Given the description of an element on the screen output the (x, y) to click on. 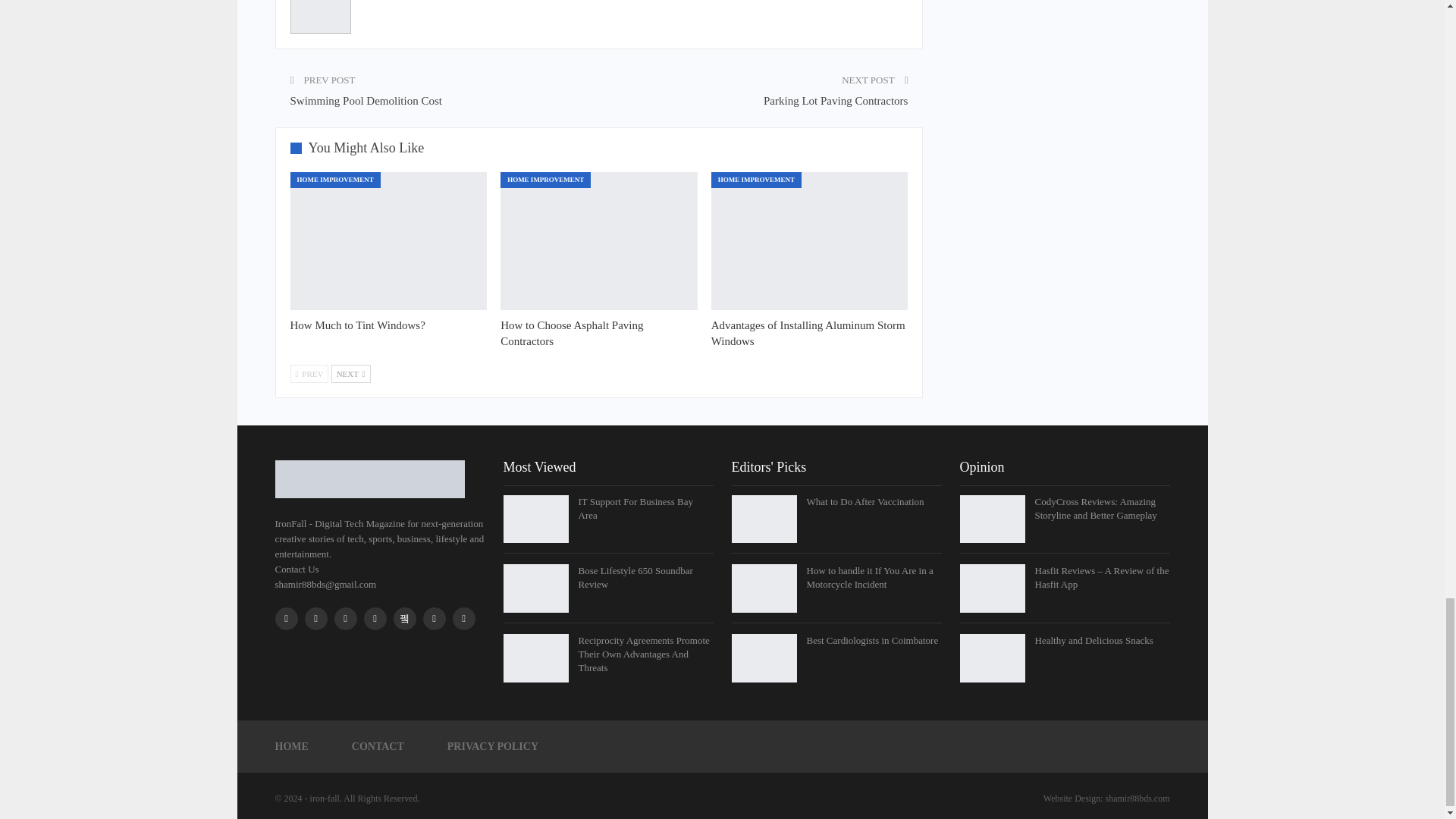
How to Choose Asphalt Paving Contractors (571, 333)
How Much to Tint Windows? (357, 325)
How Much to Tint Windows? (387, 240)
How to Choose Asphalt Paving Contractors (598, 240)
Advantages of Installing Aluminum Storm Windows (808, 333)
Advantages of Installing Aluminum Storm Windows (809, 240)
